Given the description of an element on the screen output the (x, y) to click on. 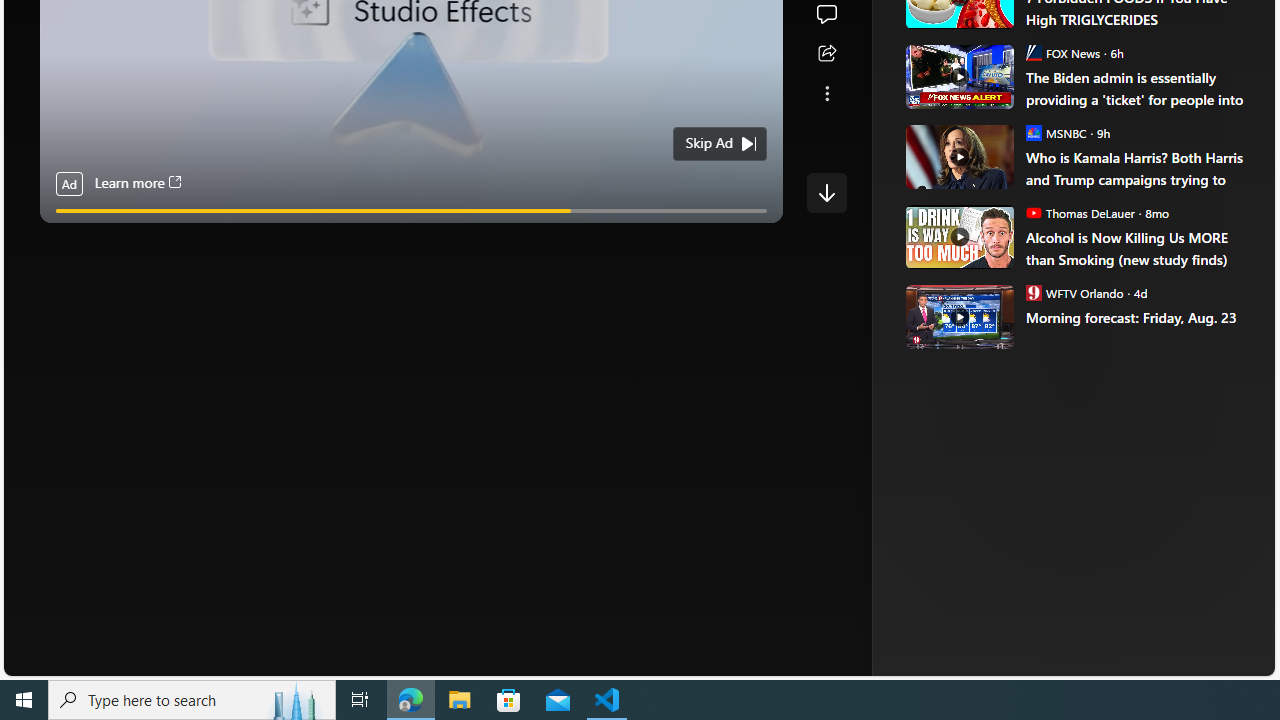
Thomas DeLauer Thomas DeLauer (1080, 212)
WFTV Orlando (1033, 291)
Morning forecast: Friday, Aug. 23 (1136, 317)
FOX News (1033, 52)
Learn more (137, 183)
Share this story (826, 53)
FOX News FOX News (1062, 52)
MSNBC MSNBC (1055, 132)
Unmute (757, 235)
